Given the description of an element on the screen output the (x, y) to click on. 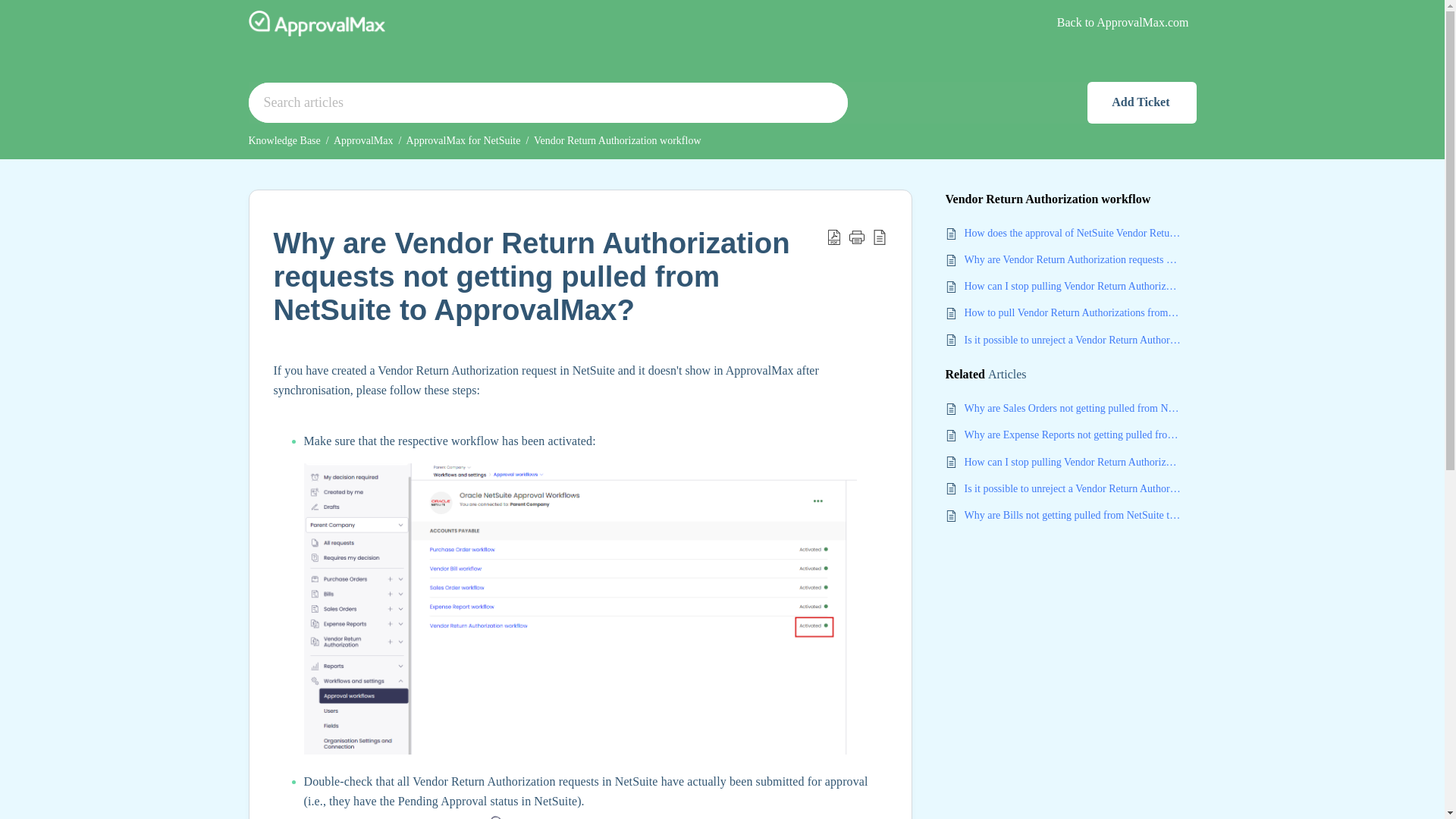
Knowledge Base (284, 140)
How to pull Vendor Return Authorizations from NetSuite (1071, 312)
ApprovalMax (363, 140)
Add Ticket (1142, 102)
Vendor Return Authorization workflow (617, 140)
ApprovalMax for NetSuite (463, 140)
Back to ApprovalMax.com (1123, 21)
